Given the description of an element on the screen output the (x, y) to click on. 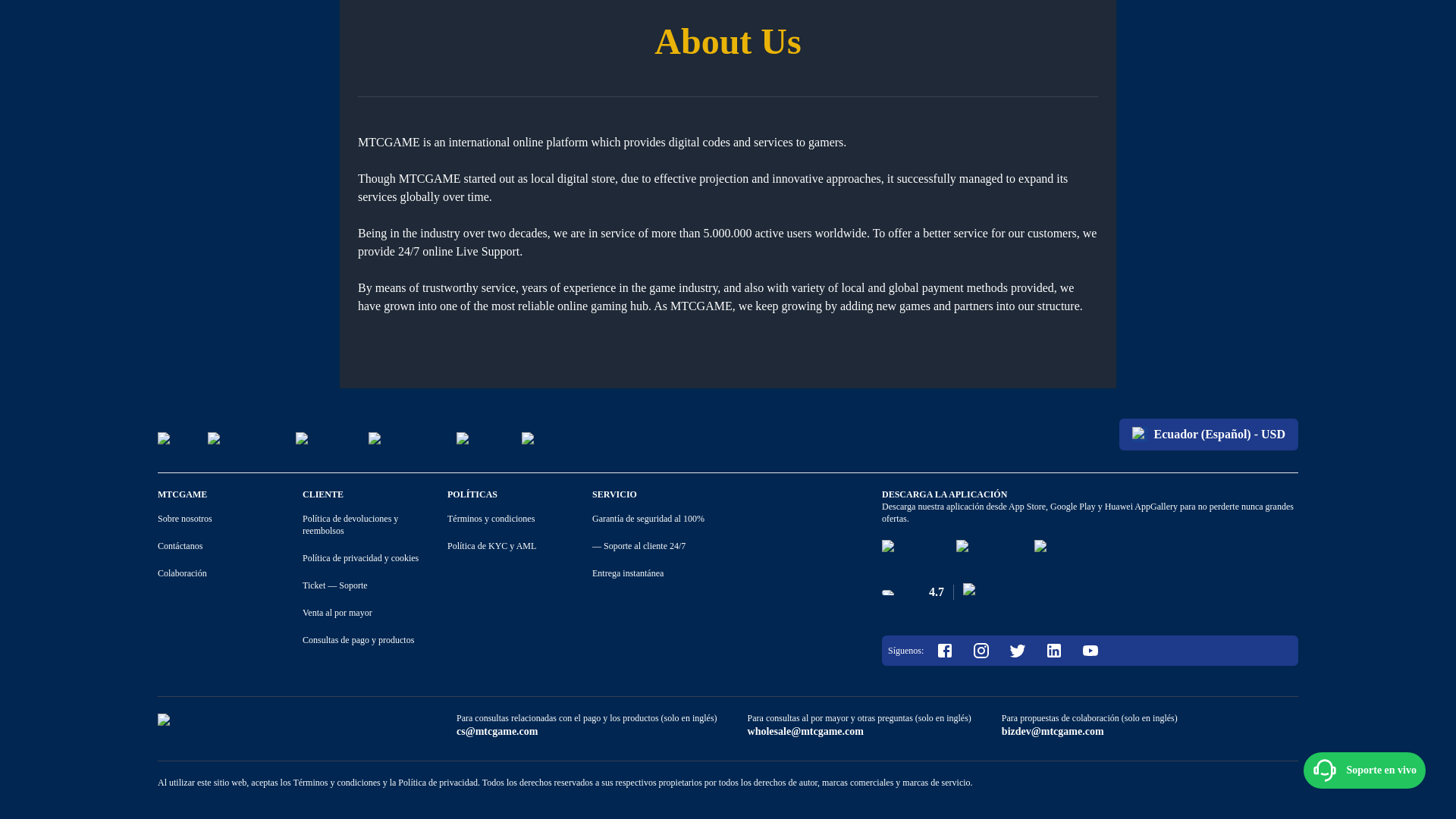
Ticket (313, 585)
Venta al por mayor (337, 612)
Sobre nosotros (184, 518)
Consultas de pago y productos (357, 639)
